Given the description of an element on the screen output the (x, y) to click on. 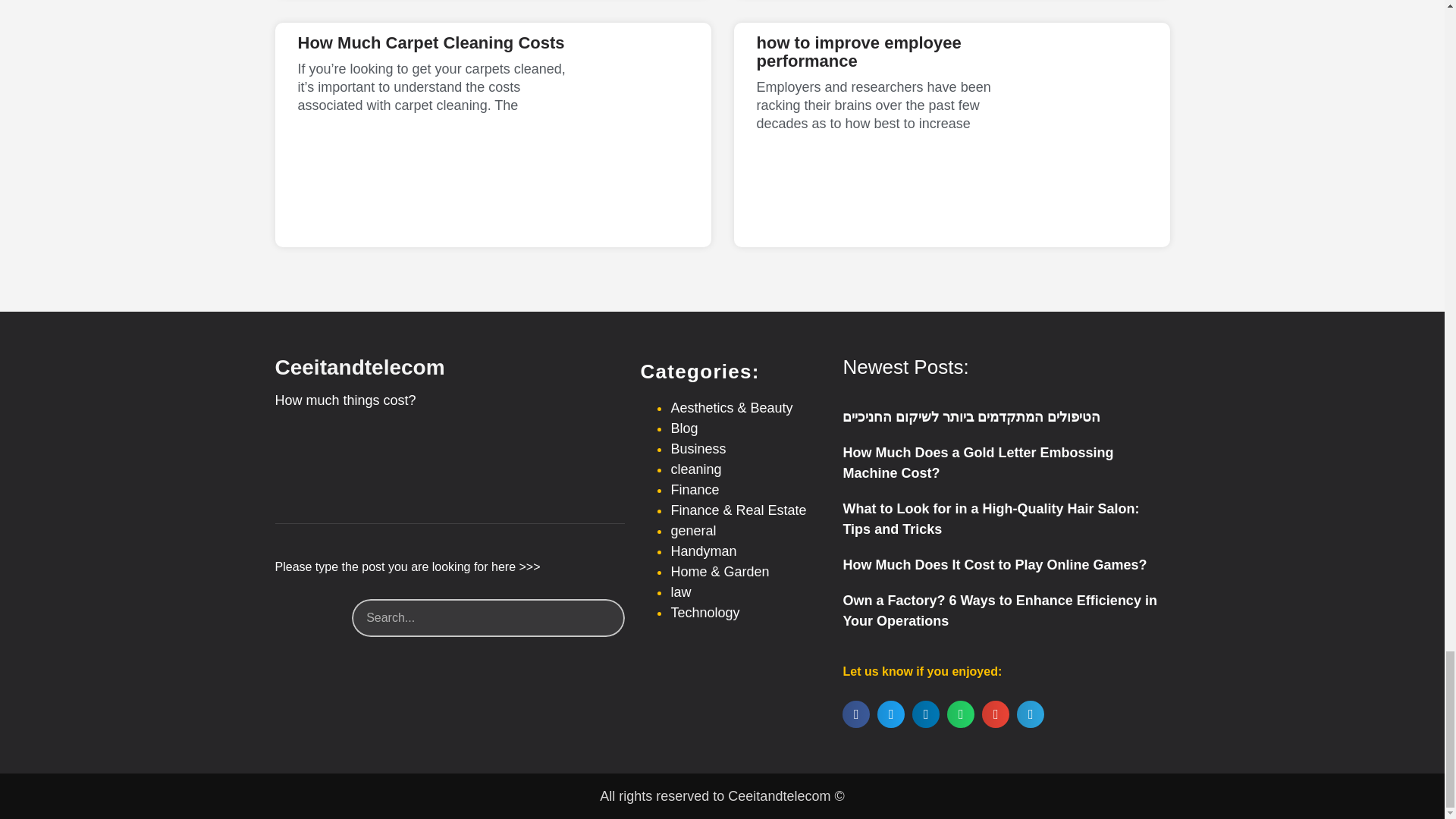
How Much Carpet Cleaning Costs (430, 42)
how to improve employee performance (858, 51)
